Given the description of an element on the screen output the (x, y) to click on. 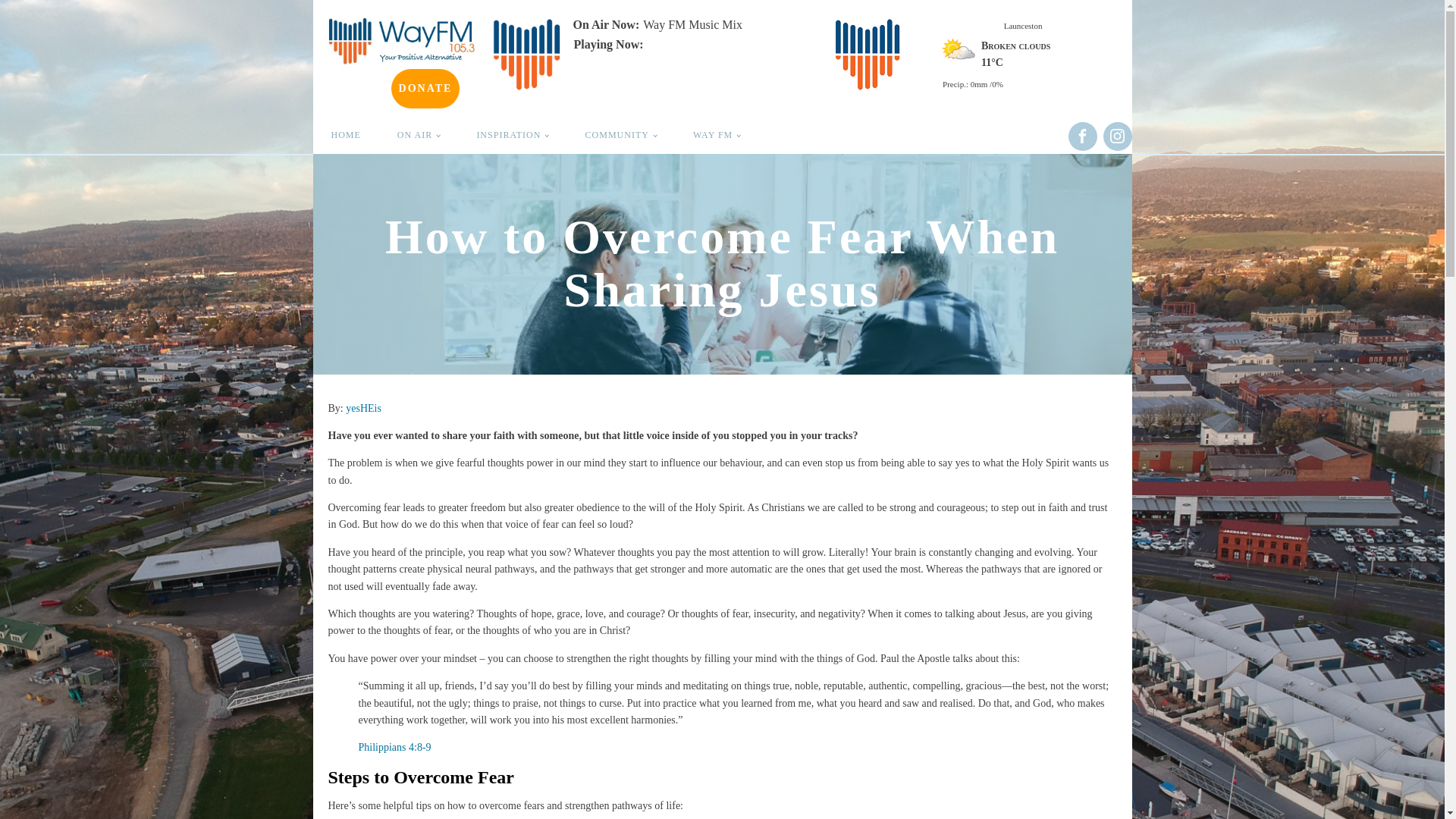
WAY FM (716, 134)
COMMUNITY (621, 134)
DONATE (425, 87)
Philippians 4:8-9 (394, 747)
INSPIRATION (512, 134)
HOME (345, 134)
ON AIR (418, 134)
yesHEis (363, 408)
